Given the description of an element on the screen output the (x, y) to click on. 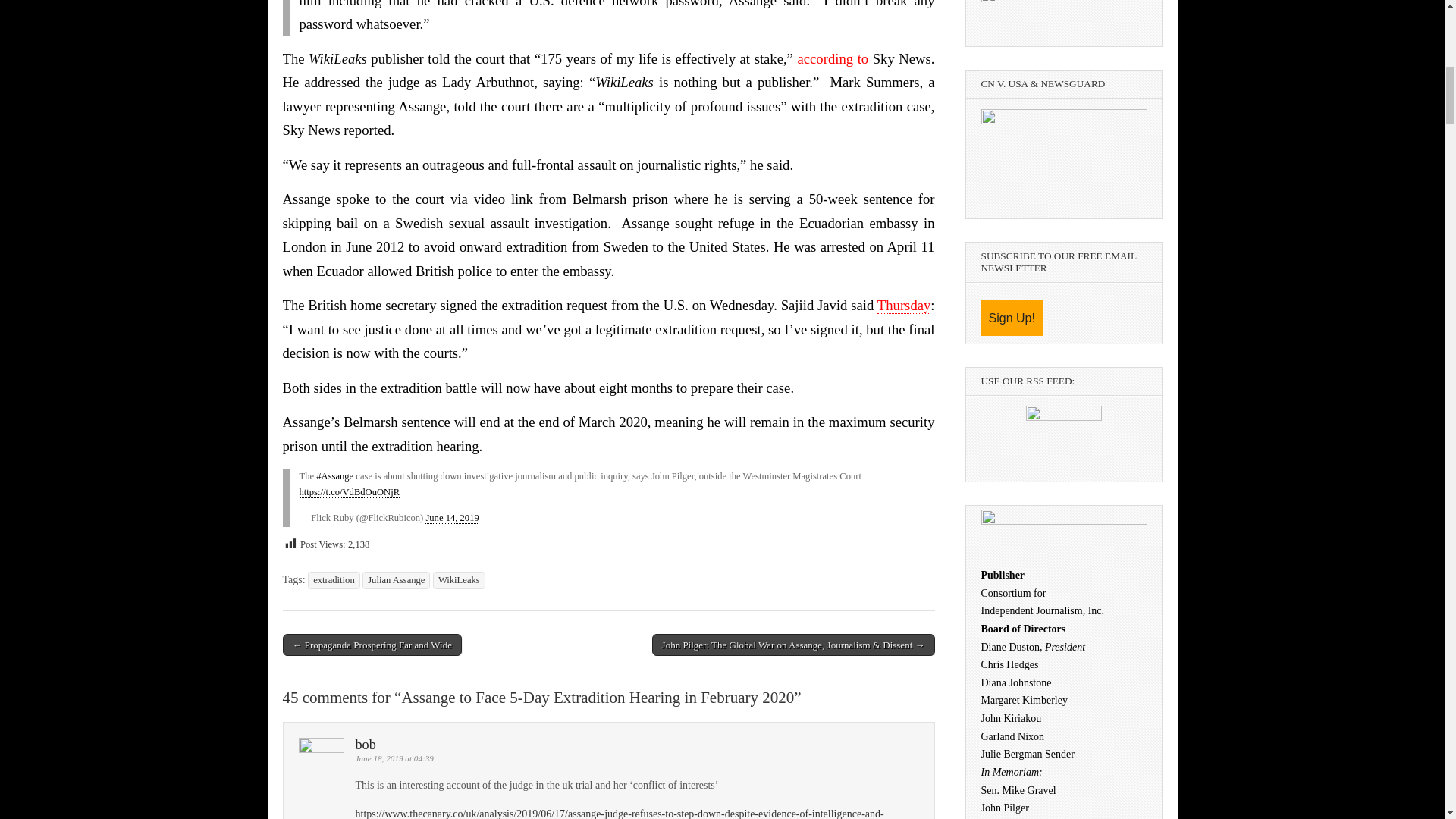
Julian Assange (395, 579)
June 14, 2019 (452, 518)
according to (833, 58)
Thursday (903, 305)
extradition (333, 579)
RSS Feed (1062, 443)
WikiLeaks (458, 579)
